Given the description of an element on the screen output the (x, y) to click on. 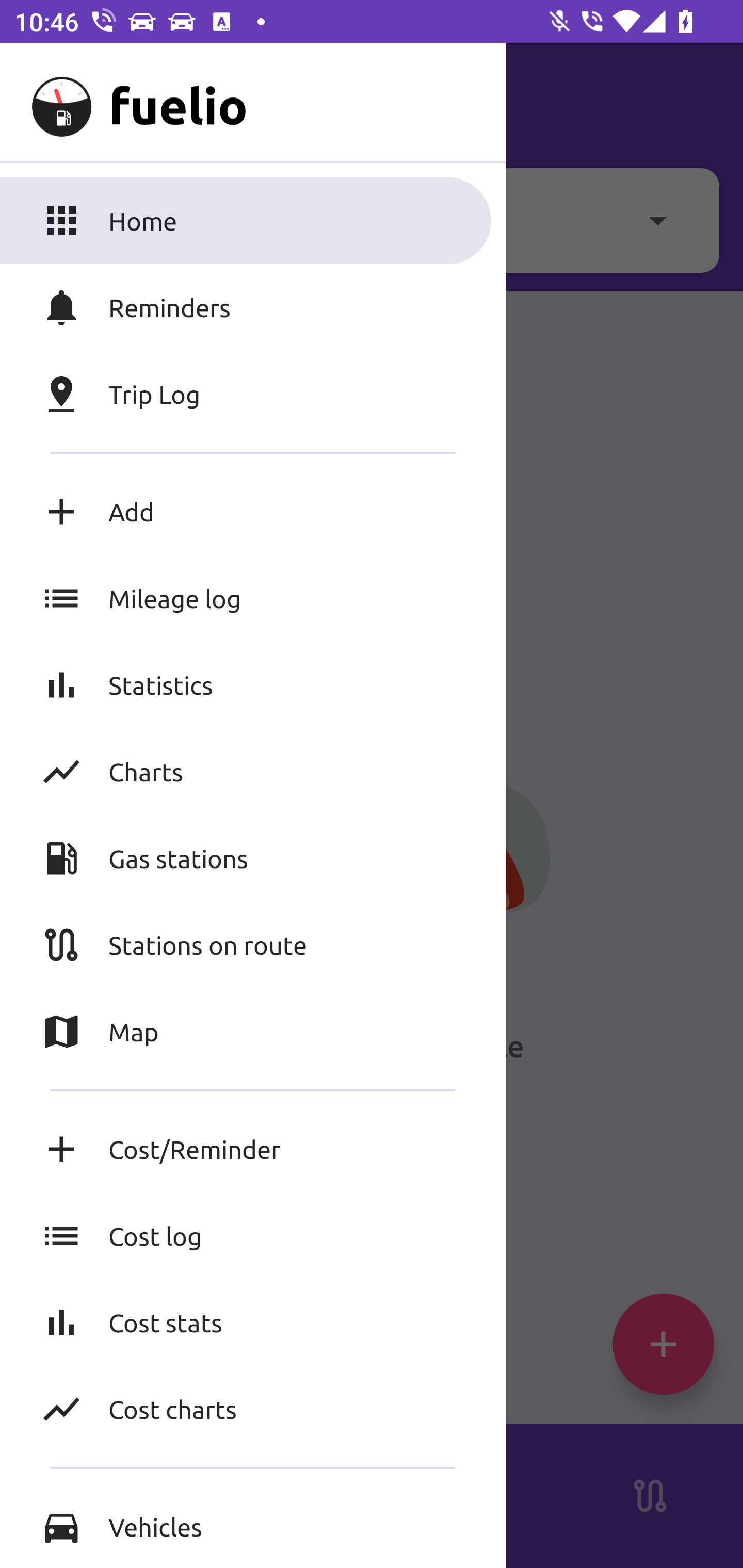
Fuelio (50, 101)
Home (252, 220)
Reminders (252, 307)
Trip Log (252, 394)
Add (252, 511)
Mileage log (252, 598)
Statistics (252, 684)
Charts (252, 771)
Gas stations (252, 858)
Stations on route (252, 944)
Map (252, 1031)
Cost/Reminder (252, 1149)
Cost log (252, 1236)
Cost stats (252, 1322)
Cost charts (252, 1408)
Vehicles (252, 1525)
